Given the description of an element on the screen output the (x, y) to click on. 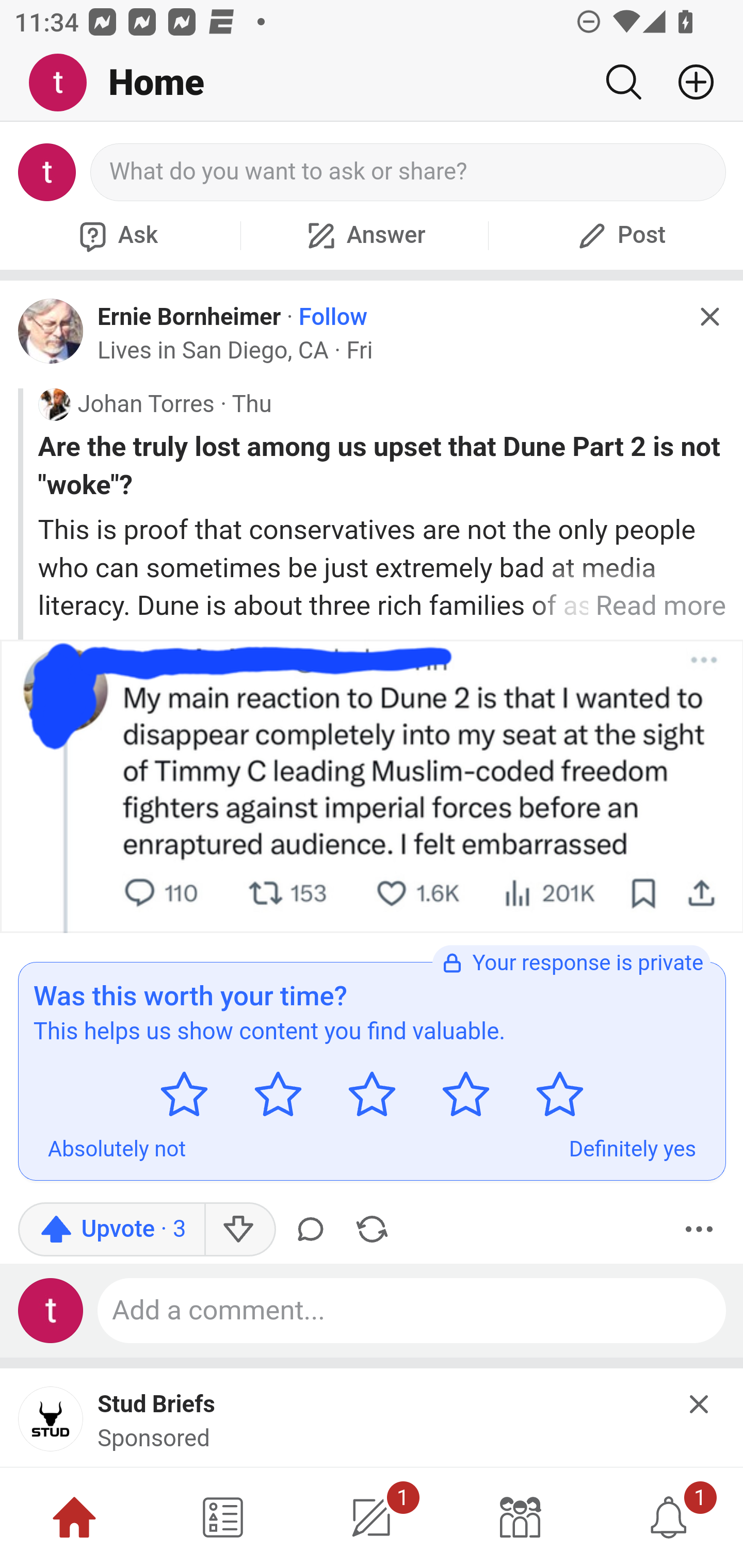
Me (64, 83)
Search (623, 82)
Add (688, 82)
What do you want to ask or share? (408, 172)
Ask (116, 234)
Answer (364, 234)
Post (618, 234)
Hide (709, 316)
Profile photo for Ernie Bornheimer (50, 330)
Ernie Bornheimer (189, 315)
Follow (332, 316)
Profile photo for Johan Torres (54, 404)
Upvote (111, 1229)
Downvote (238, 1229)
Comment (313, 1229)
Share (372, 1229)
More (699, 1229)
Profile photo for Test Appium (50, 1309)
Add a comment... (412, 1309)
Hide (699, 1403)
main-qimg-f203deb7121183c78e5088192cee230f (50, 1424)
Stud Briefs (156, 1405)
1 (371, 1517)
1 (668, 1517)
